Given the description of an element on the screen output the (x, y) to click on. 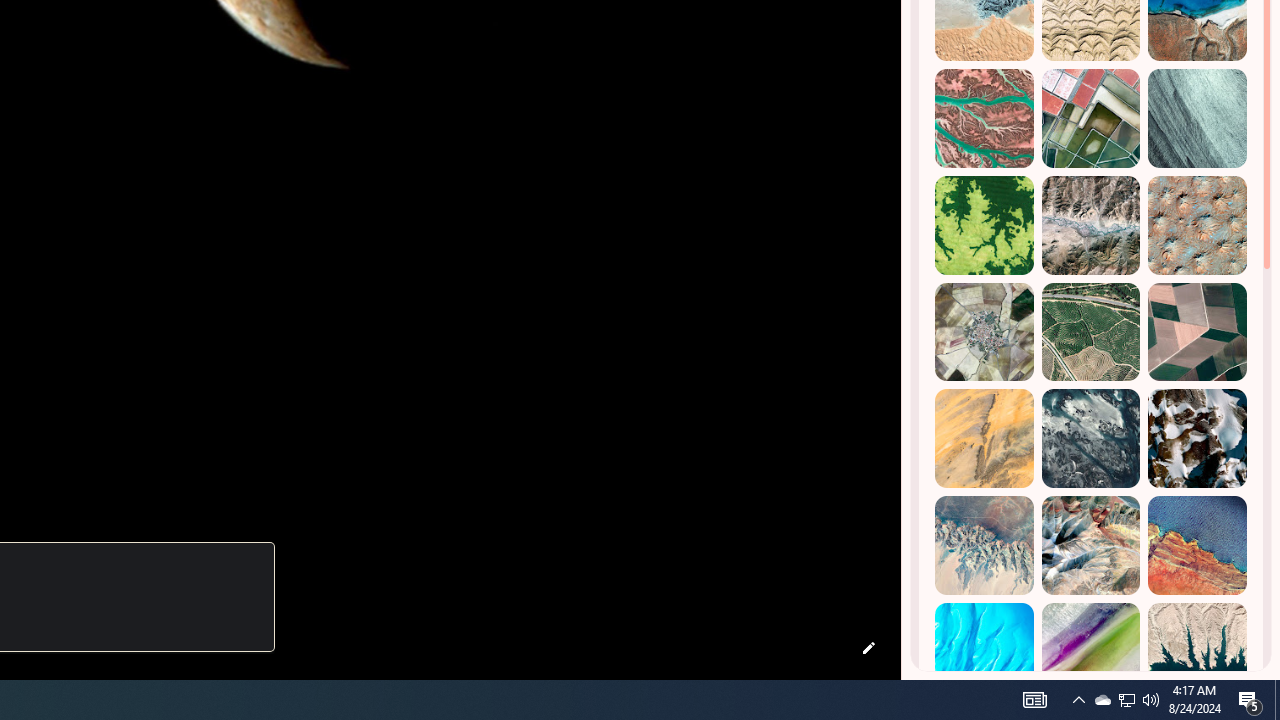
Dekese, DR Congo (984, 225)
South Eleuthera, The Bahamas (984, 651)
Utrera, Spain (1197, 332)
Pozoantiguo, Spain (984, 332)
Iceland (1197, 119)
Aigues-Mortes, France (1090, 119)
